Given the description of an element on the screen output the (x, y) to click on. 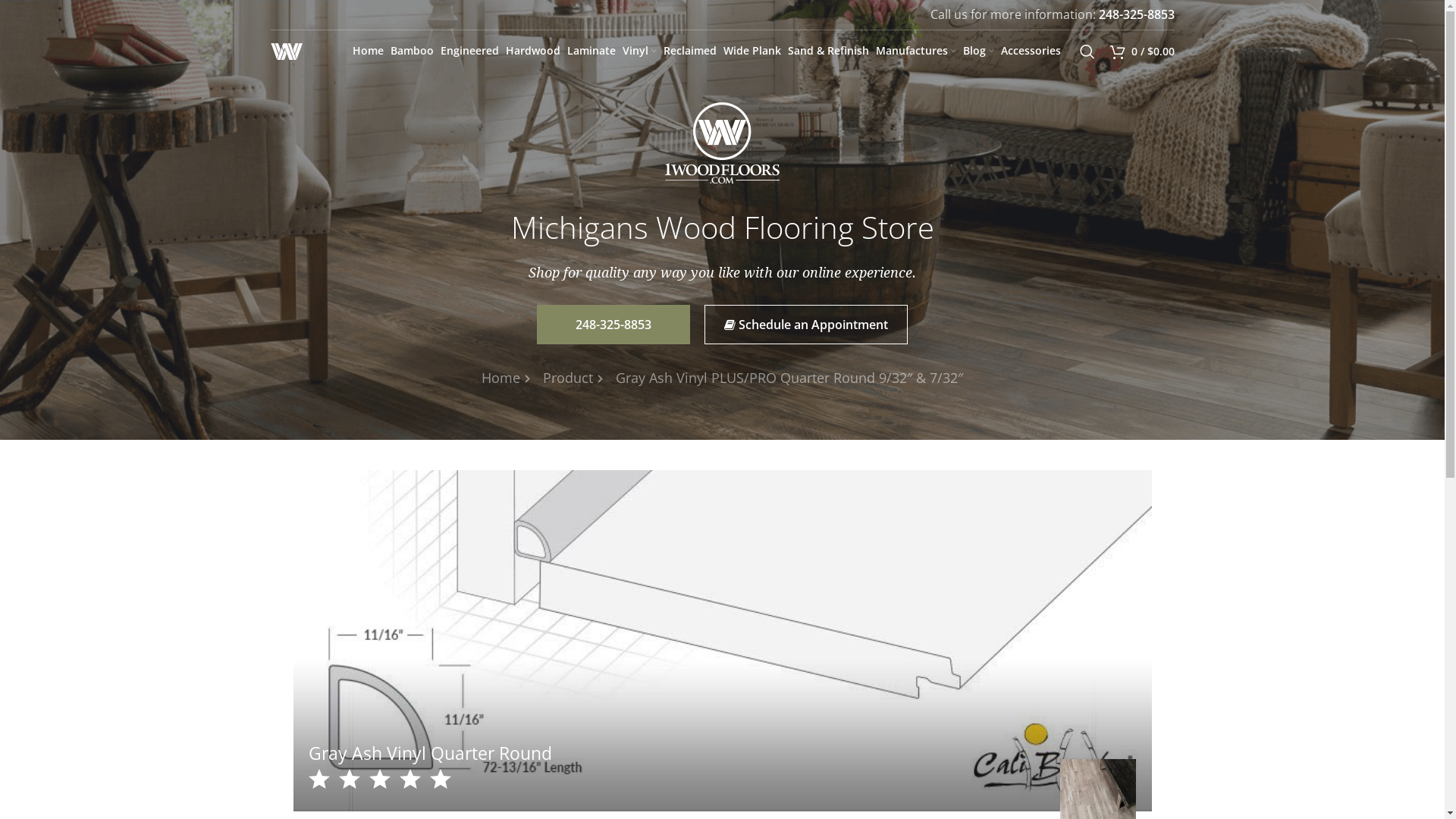
Wide Plank Element type: text (752, 51)
248-325-8853 Element type: text (1135, 14)
Bamboo Element type: text (411, 51)
Blog Element type: text (978, 51)
Accessories Element type: text (1030, 51)
Laminate Element type: text (591, 51)
Engineered Element type: text (469, 51)
Home Element type: text (367, 51)
Hardwood Element type: text (532, 51)
Schedule an Appointment Element type: text (805, 324)
0 / $0.00 Element type: text (1142, 51)
Vinyl Element type: text (638, 51)
Manufactures Element type: text (915, 51)
Product Element type: text (567, 377)
Sand & Refinish Element type: text (828, 51)
Home Element type: text (500, 377)
248-325-8853 Element type: text (613, 324)
Reclaimed Element type: text (689, 51)
Search Element type: hover (1087, 51)
